Given the description of an element on the screen output the (x, y) to click on. 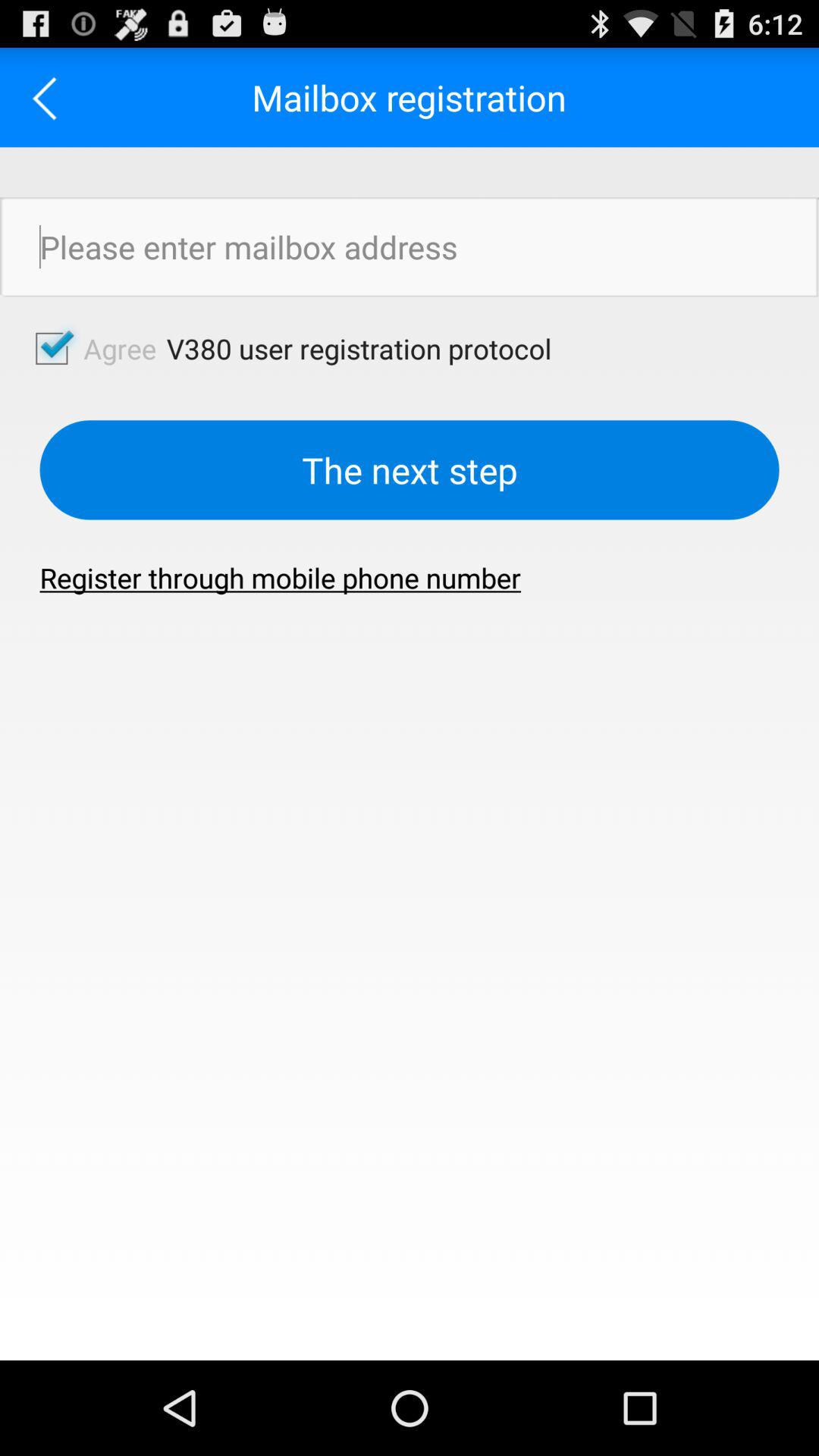
agree to terms (51, 348)
